Given the description of an element on the screen output the (x, y) to click on. 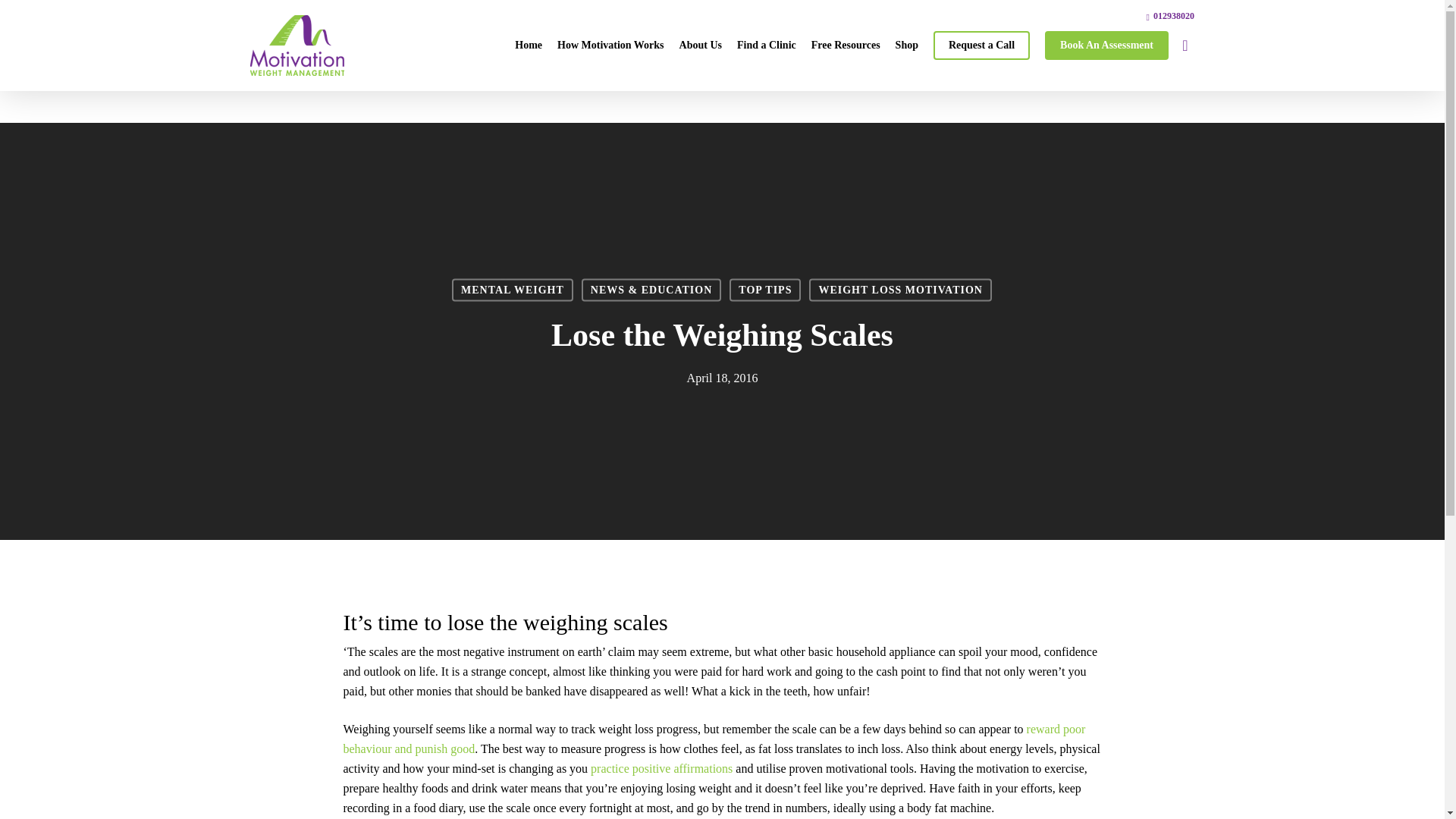
TOP TIPS (764, 290)
How Motivation Works (610, 45)
Book An Assessment (1107, 45)
Find a Clinic (766, 45)
Home (528, 45)
WEIGHT LOSS MOTIVATION (900, 290)
practice positive affirmations (661, 768)
Shop (907, 45)
Request a Call (981, 45)
reward poor behaviour and punish good (713, 738)
MENTAL WEIGHT (512, 290)
About Us (700, 45)
Free Resources (845, 45)
012938020 (1170, 15)
search (1184, 45)
